Given the description of an element on the screen output the (x, y) to click on. 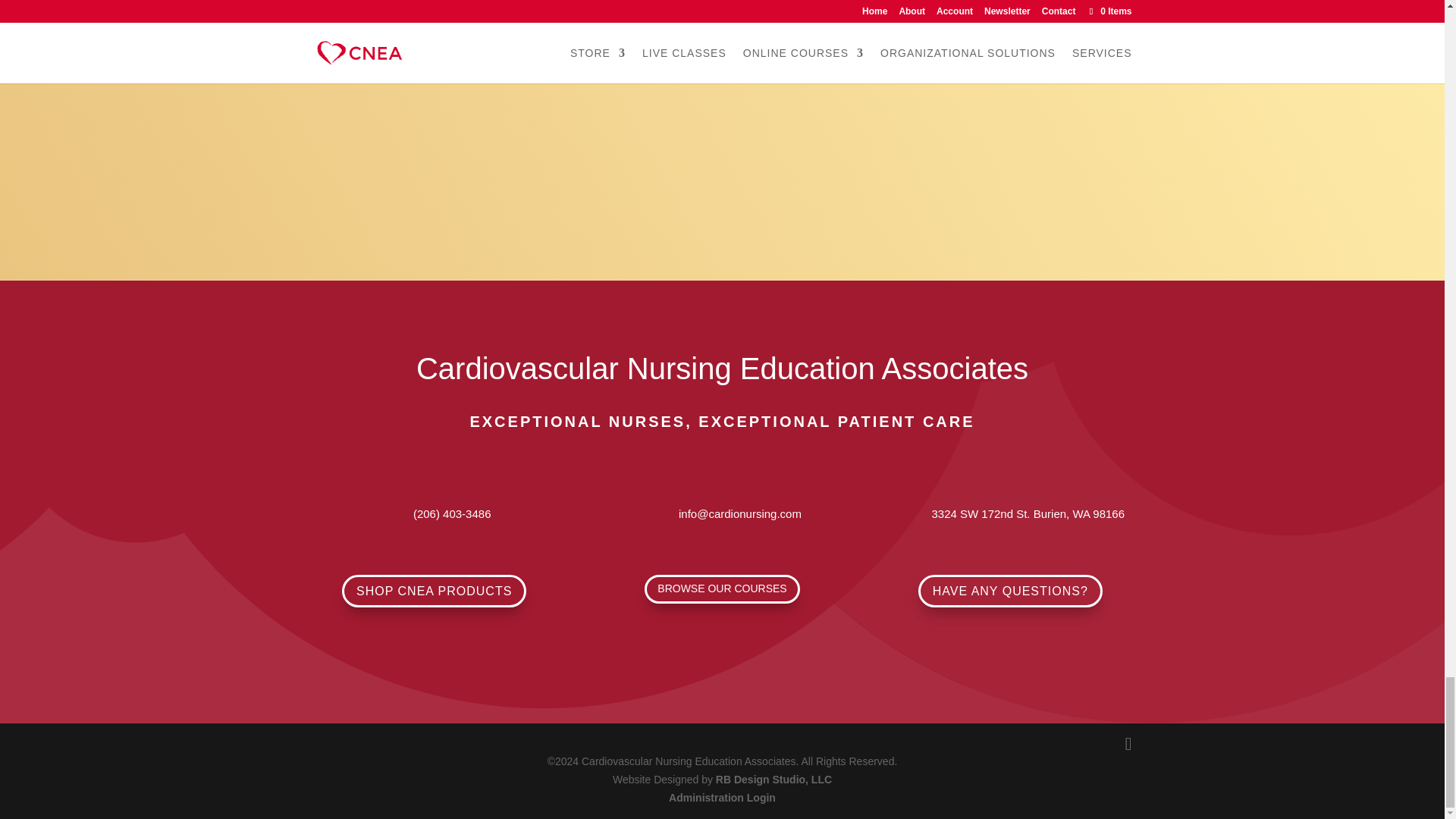
SHOP CNEA PRODUCTS (433, 590)
RB Design Studio, LLC (773, 779)
Administration Login (722, 797)
HAVE ANY QUESTIONS? (1010, 590)
BROWSE OUR COURSES (722, 588)
